Given the description of an element on the screen output the (x, y) to click on. 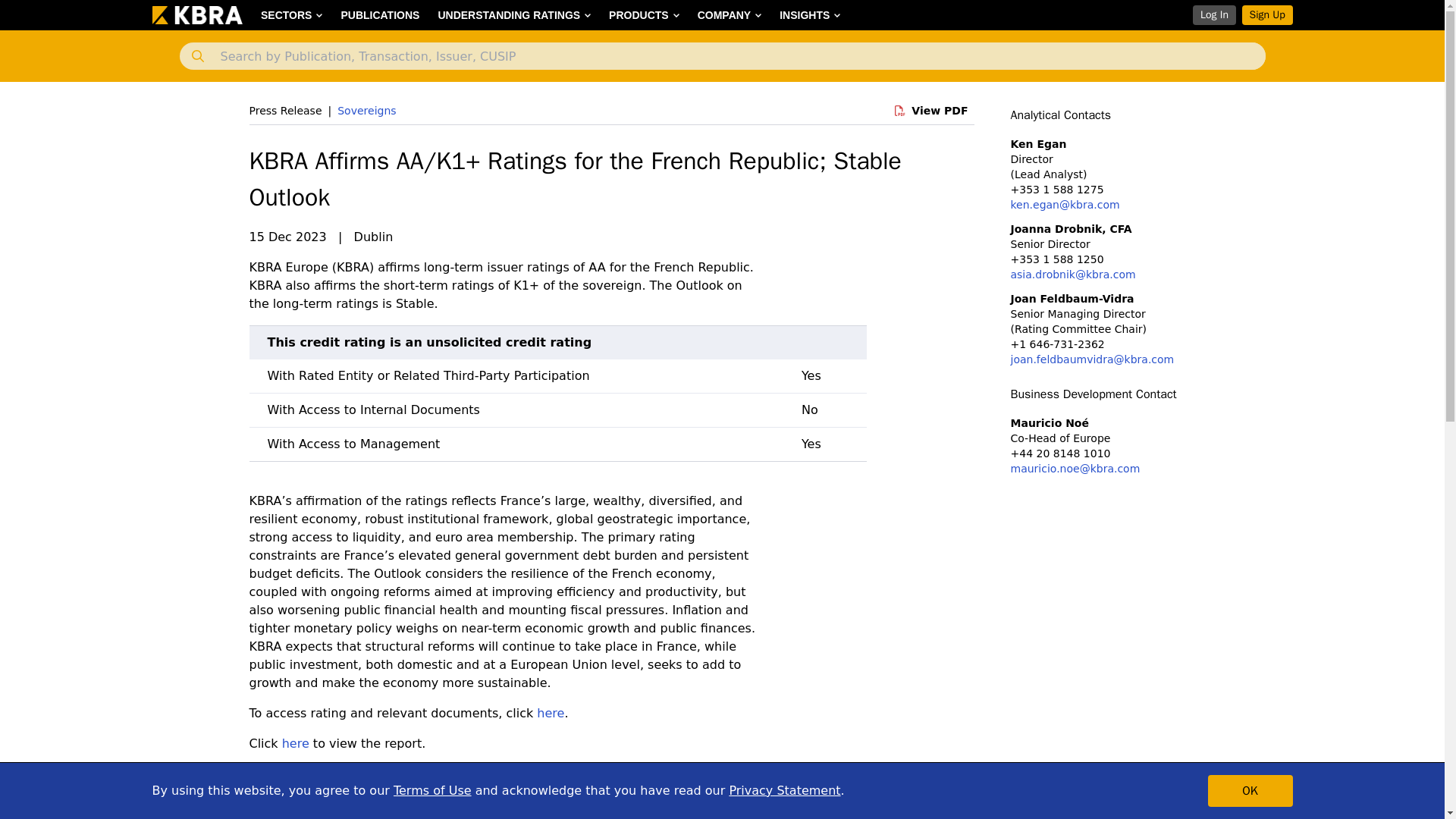
COMPANY (729, 15)
Log In (1213, 14)
PRODUCTS (643, 15)
PUBLICATIONS (379, 15)
INSIGHTS (809, 15)
UNDERSTANDING RATINGS (513, 15)
SECTORS (291, 15)
